Given the description of an element on the screen output the (x, y) to click on. 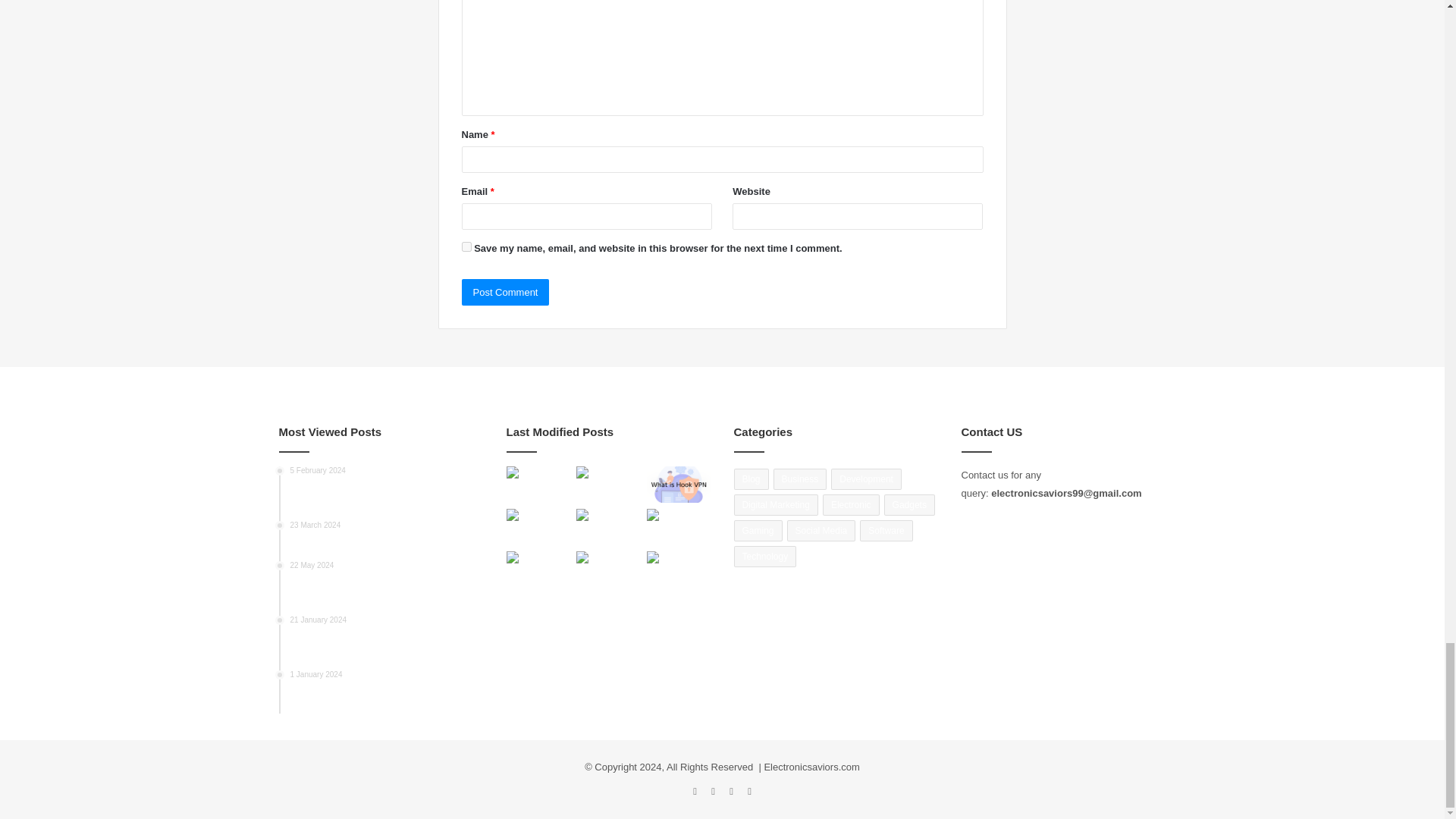
yes (465, 246)
Post Comment (504, 292)
Post Comment (504, 292)
